Given the description of an element on the screen output the (x, y) to click on. 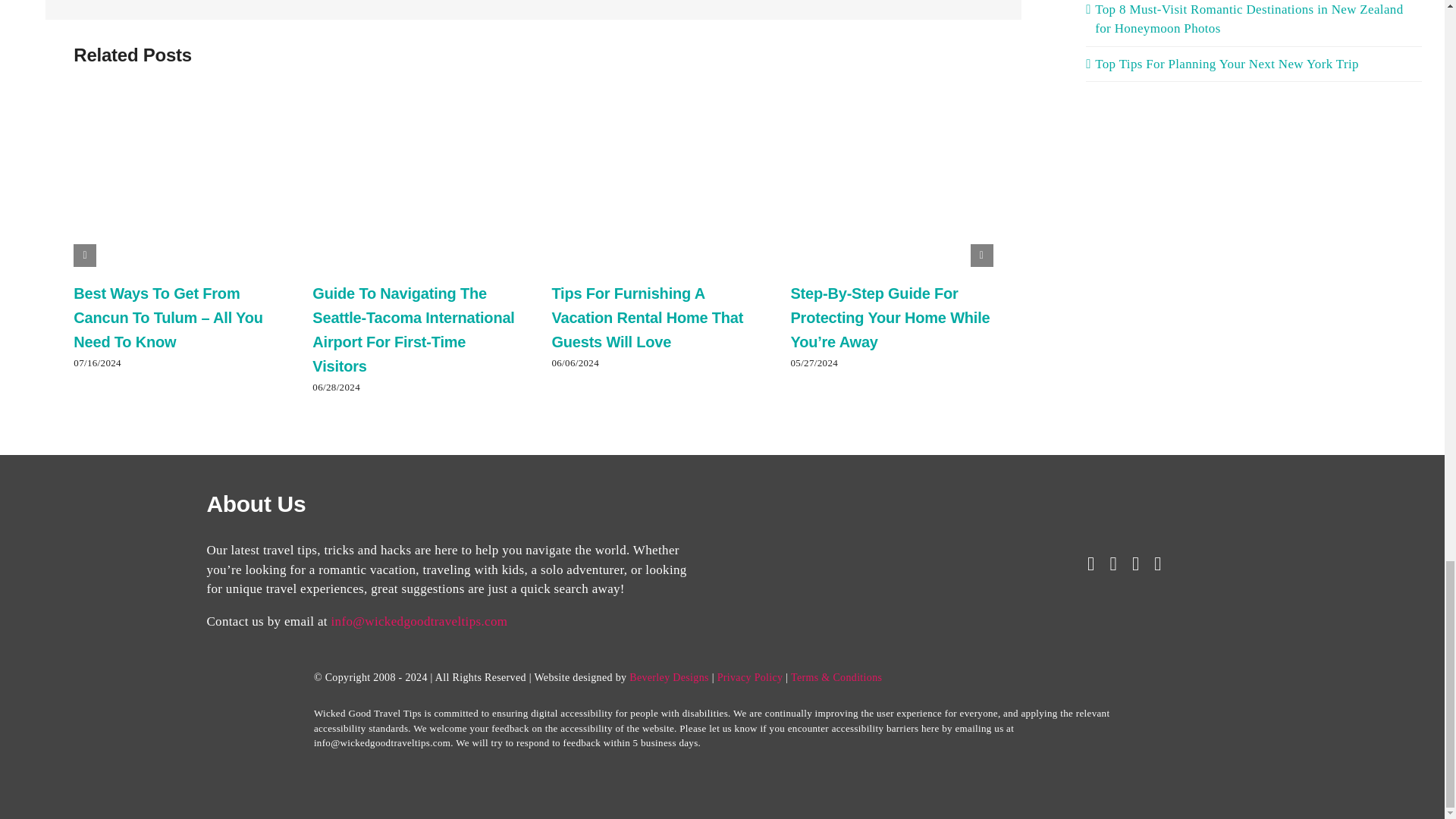
X (863, 2)
Facebook (836, 2)
WhatsApp (940, 2)
LinkedIn (914, 2)
Telegram (965, 2)
Pinterest (991, 2)
Reddit (888, 2)
